Given the description of an element on the screen output the (x, y) to click on. 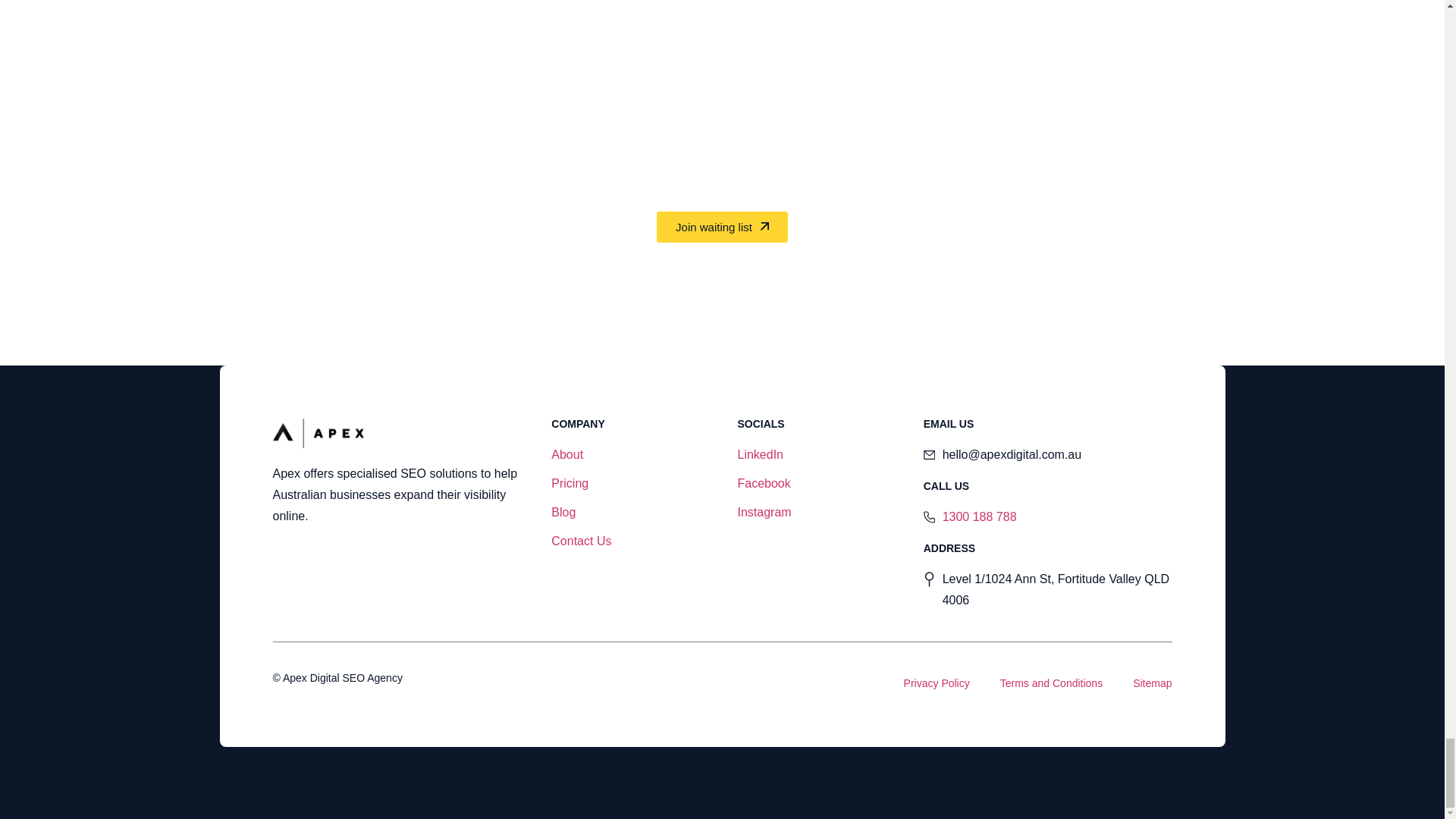
1300 188 788 (1047, 516)
Privacy Policy (936, 682)
About (628, 455)
Terms and Conditions (1051, 682)
Join waiting list (721, 225)
Facebook (814, 483)
Blog (628, 512)
Pricing (628, 483)
LinkedIn (814, 455)
Sitemap (1152, 682)
